Given the description of an element on the screen output the (x, y) to click on. 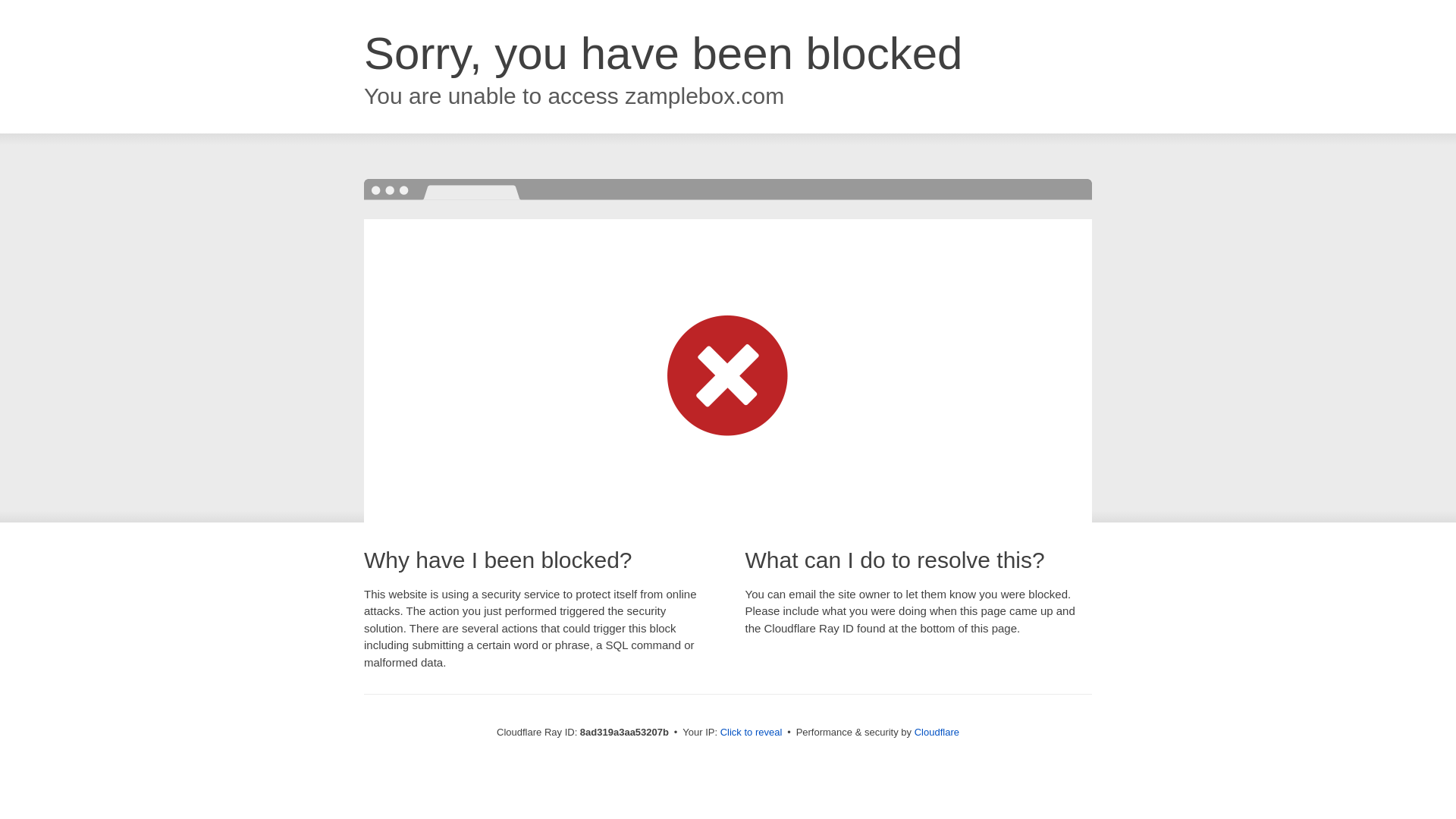
Click to reveal (751, 732)
Cloudflare (936, 731)
